Given the description of an element on the screen output the (x, y) to click on. 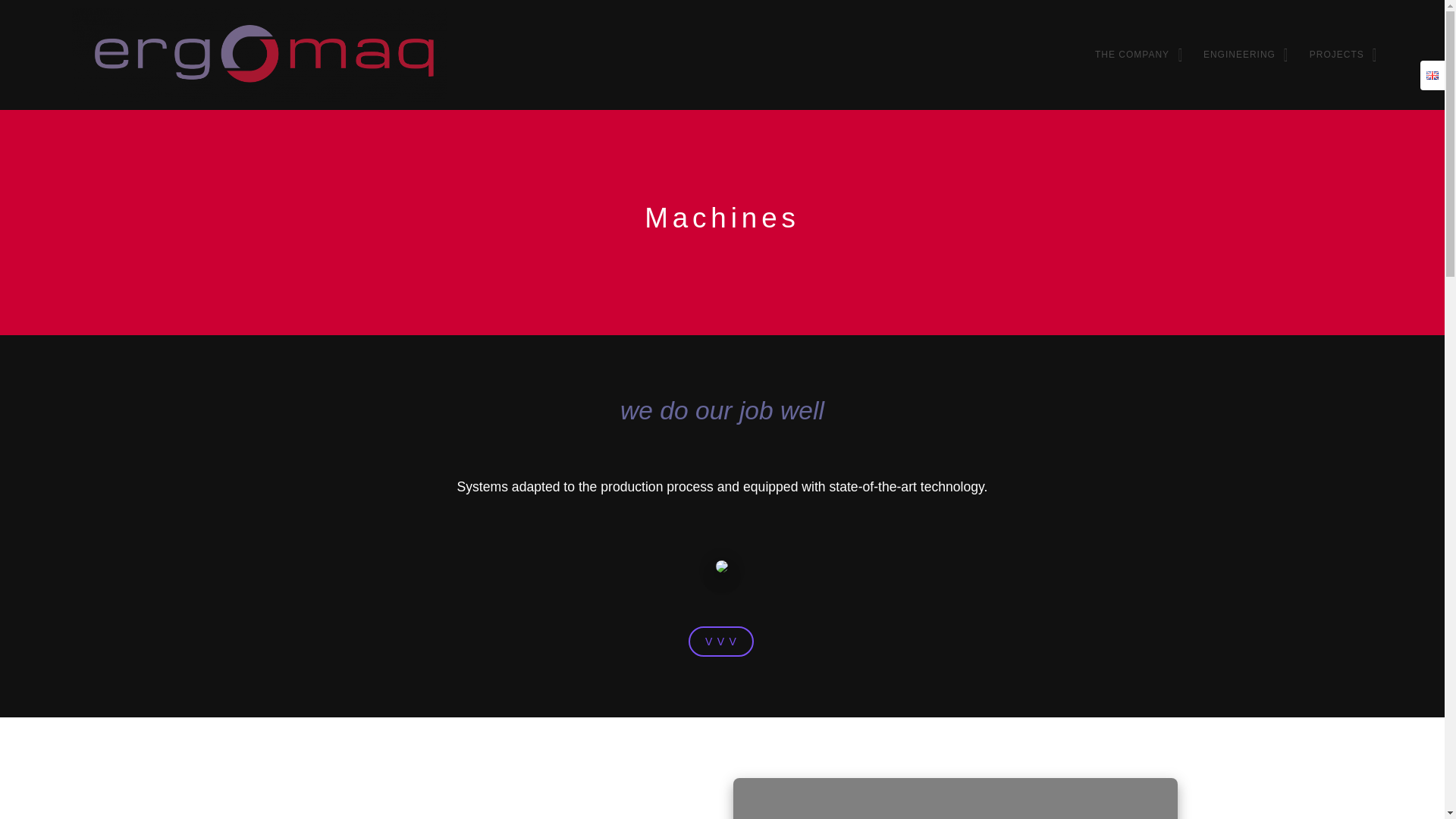
ENGINEERING (1241, 54)
PROJECTS (1339, 54)
THE COMPANY (1134, 54)
V V V (721, 641)
